Given the description of an element on the screen output the (x, y) to click on. 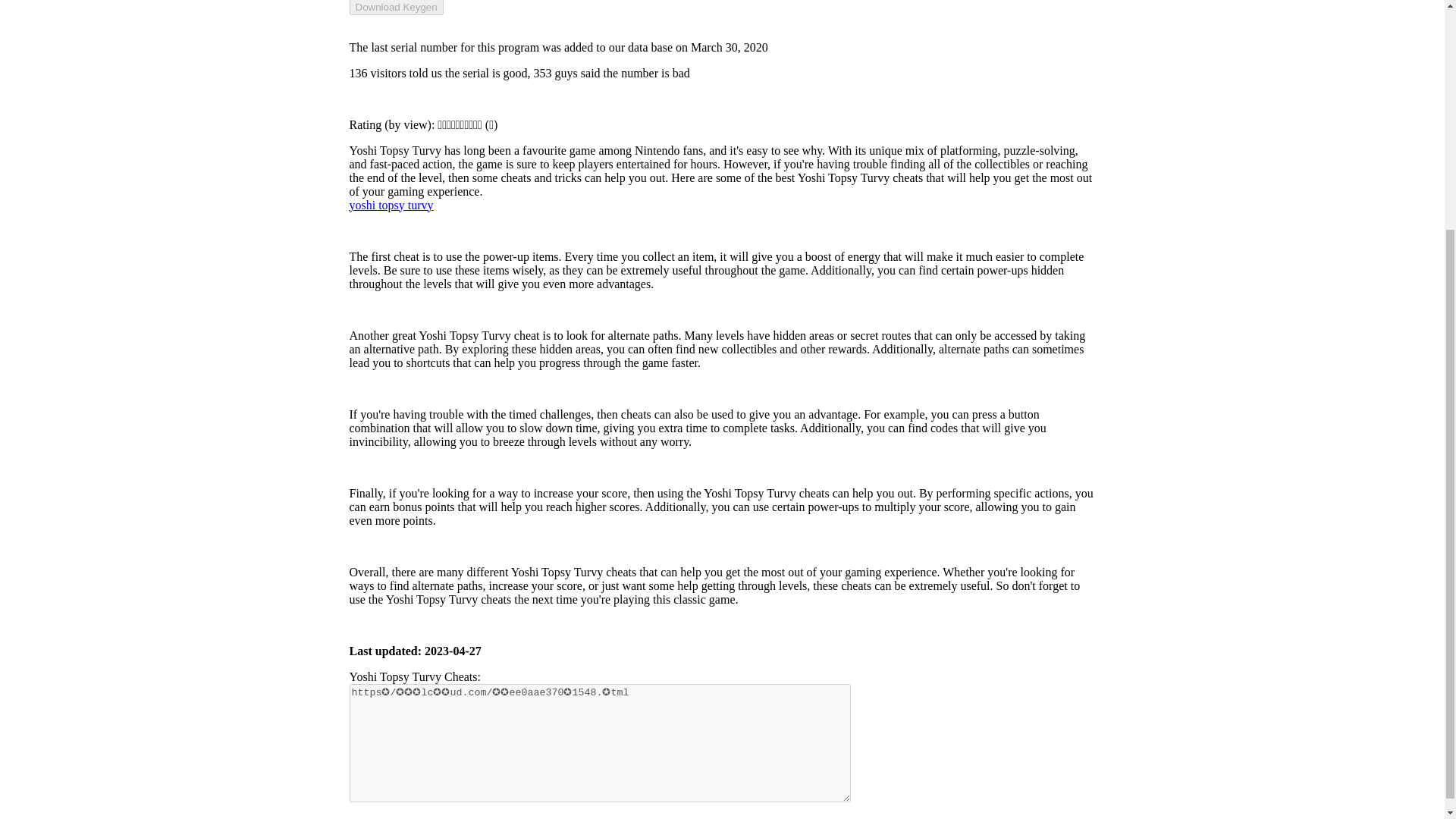
Download Keygen (395, 7)
yoshi topsy turvy (390, 204)
Download Keygen (395, 7)
